Given the description of an element on the screen output the (x, y) to click on. 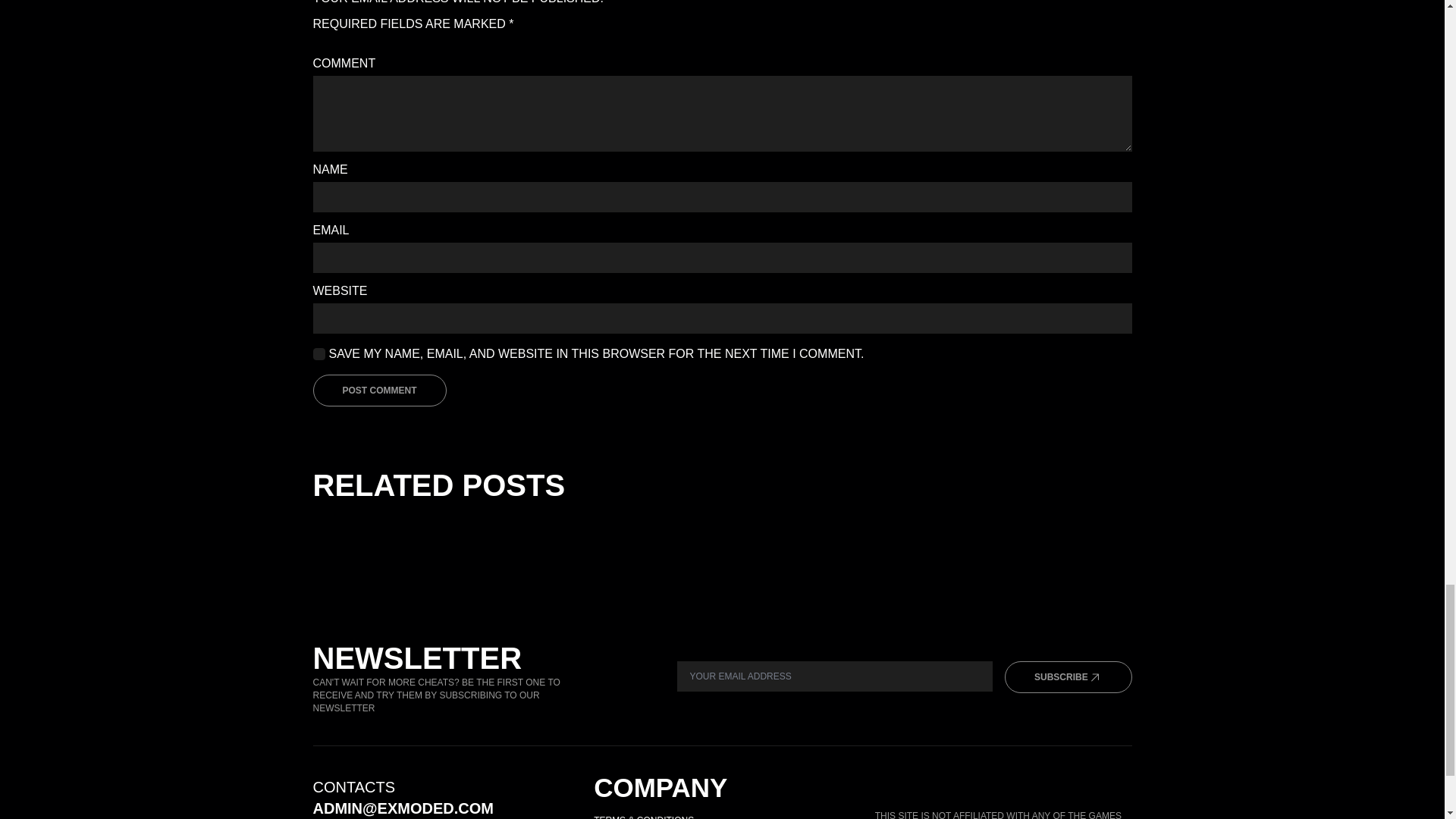
yes (318, 354)
SUBSCRIBE (1067, 676)
Post Comment (379, 390)
Post Comment (379, 390)
